Given the description of an element on the screen output the (x, y) to click on. 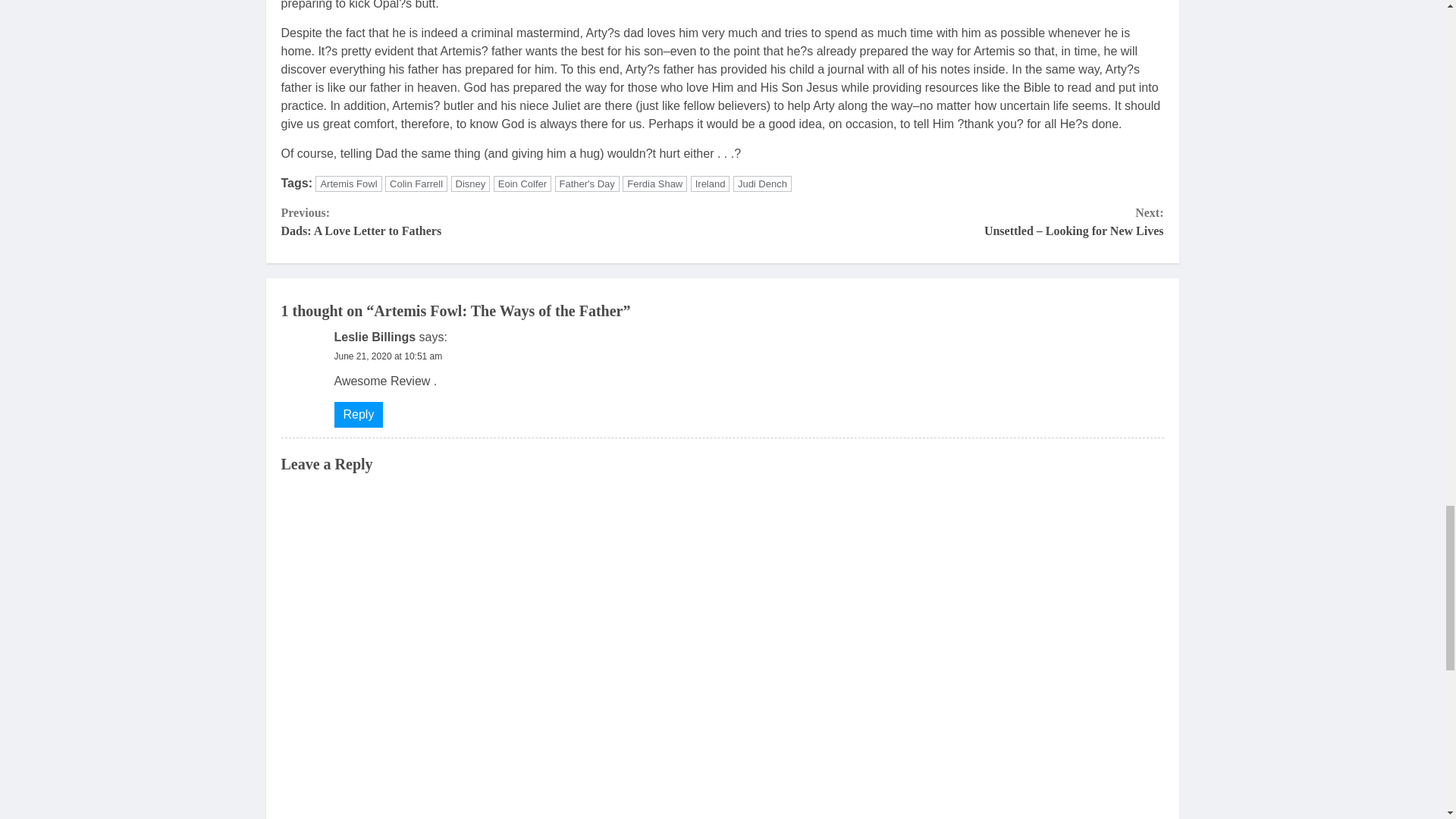
Colin Farrell (415, 183)
Ferdia Shaw (655, 183)
June 21, 2020 at 10:51 am (387, 356)
Reply (501, 221)
Disney (357, 414)
Eoin Colfer (470, 183)
Artemis Fowl (522, 183)
Father's Day (348, 183)
Judi Dench (587, 183)
